Given the description of an element on the screen output the (x, y) to click on. 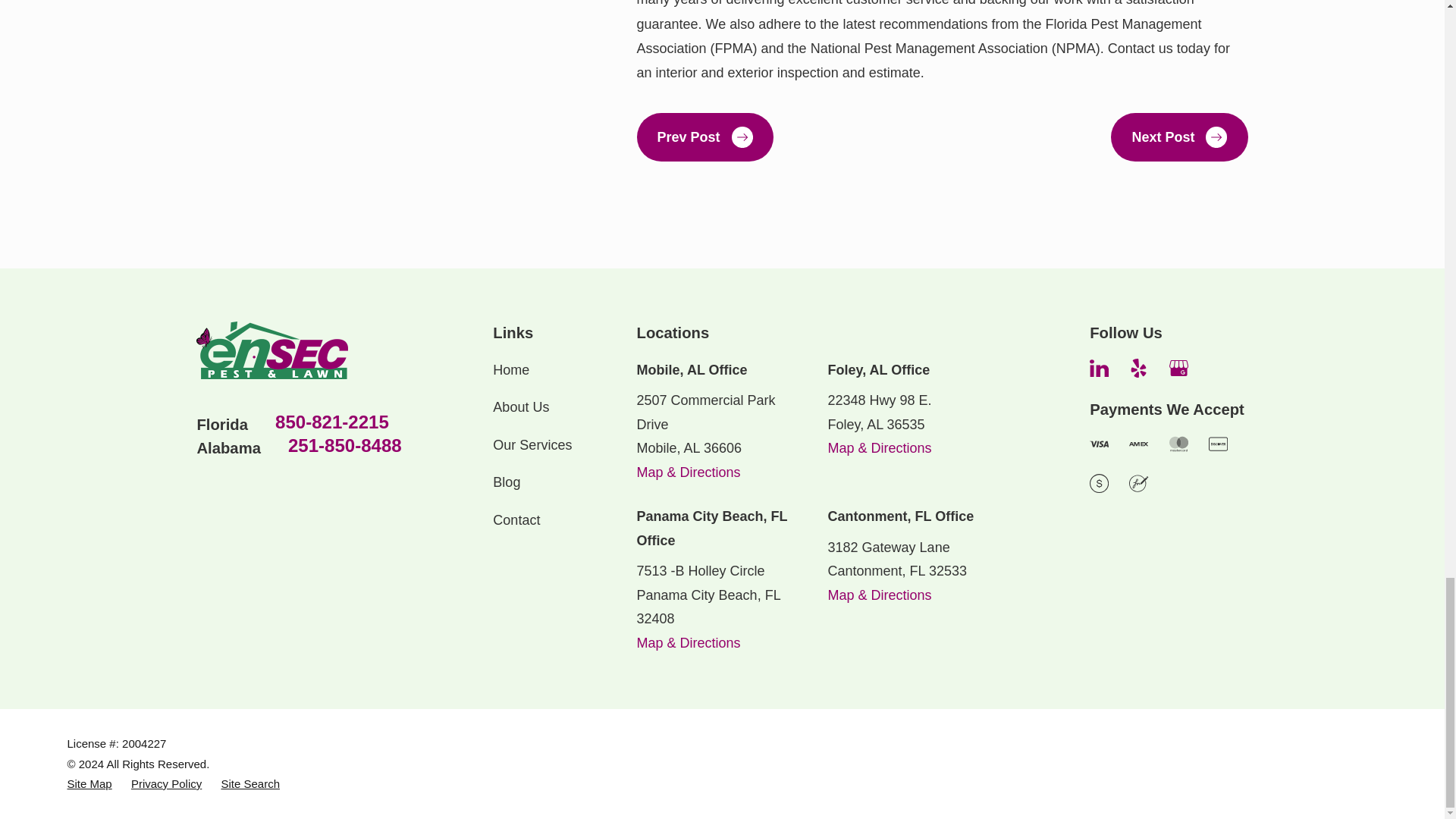
MasterCard (1178, 443)
Google Business Profile (1178, 367)
Yelp (1138, 367)
Visa (1098, 443)
Home (271, 350)
LinkedIn (1098, 367)
AMEX (1138, 443)
